Given the description of an element on the screen output the (x, y) to click on. 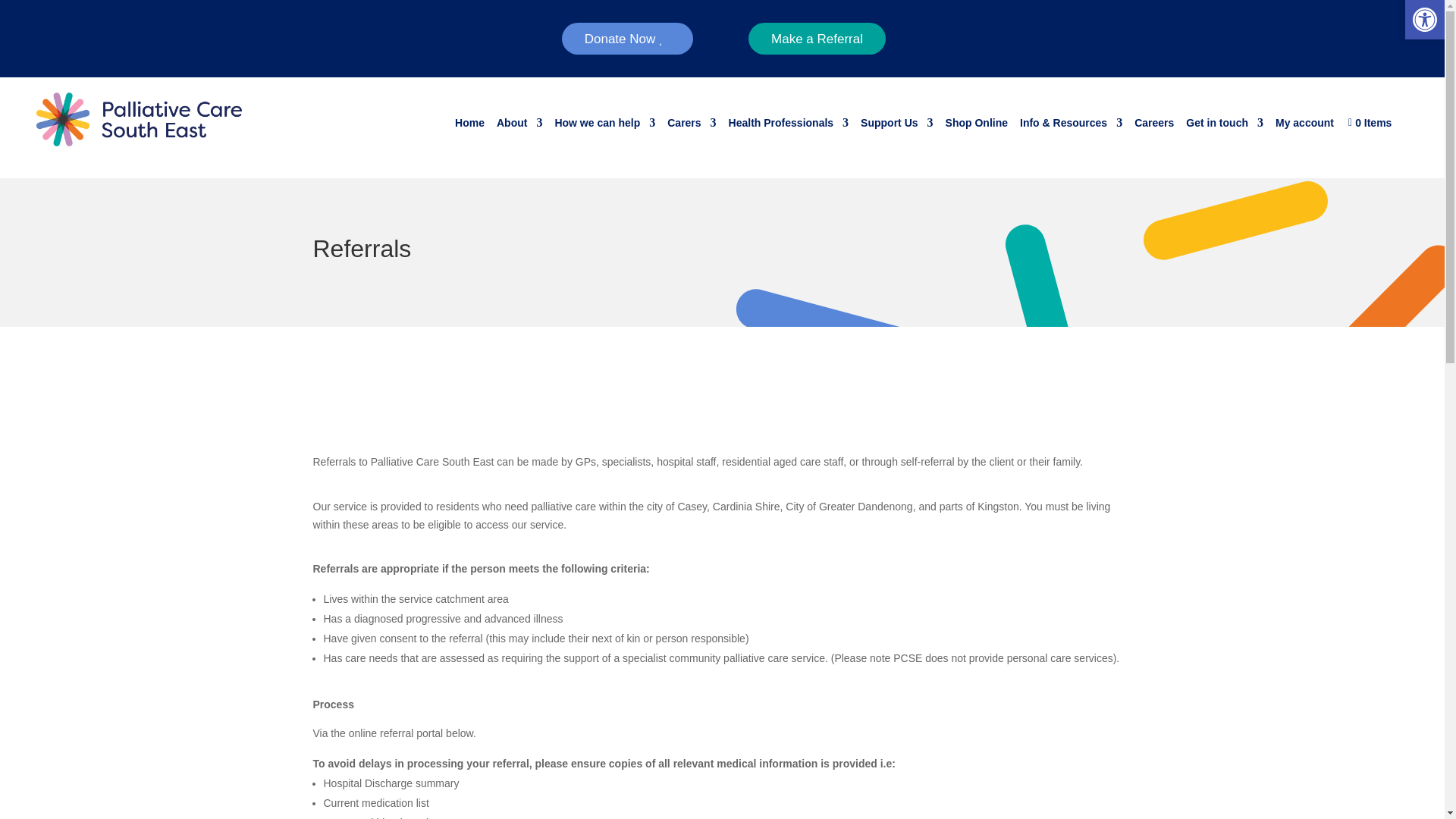
Shop Online (975, 125)
Accessibility Tools (1424, 19)
How we can help (604, 125)
Home (469, 125)
Support Us (896, 125)
Health Professionals (788, 125)
About (518, 125)
PCSE-PRIMARY-LOGO (138, 119)
Donate Now (628, 38)
Make a Referral (816, 38)
Carers (691, 125)
